Given the description of an element on the screen output the (x, y) to click on. 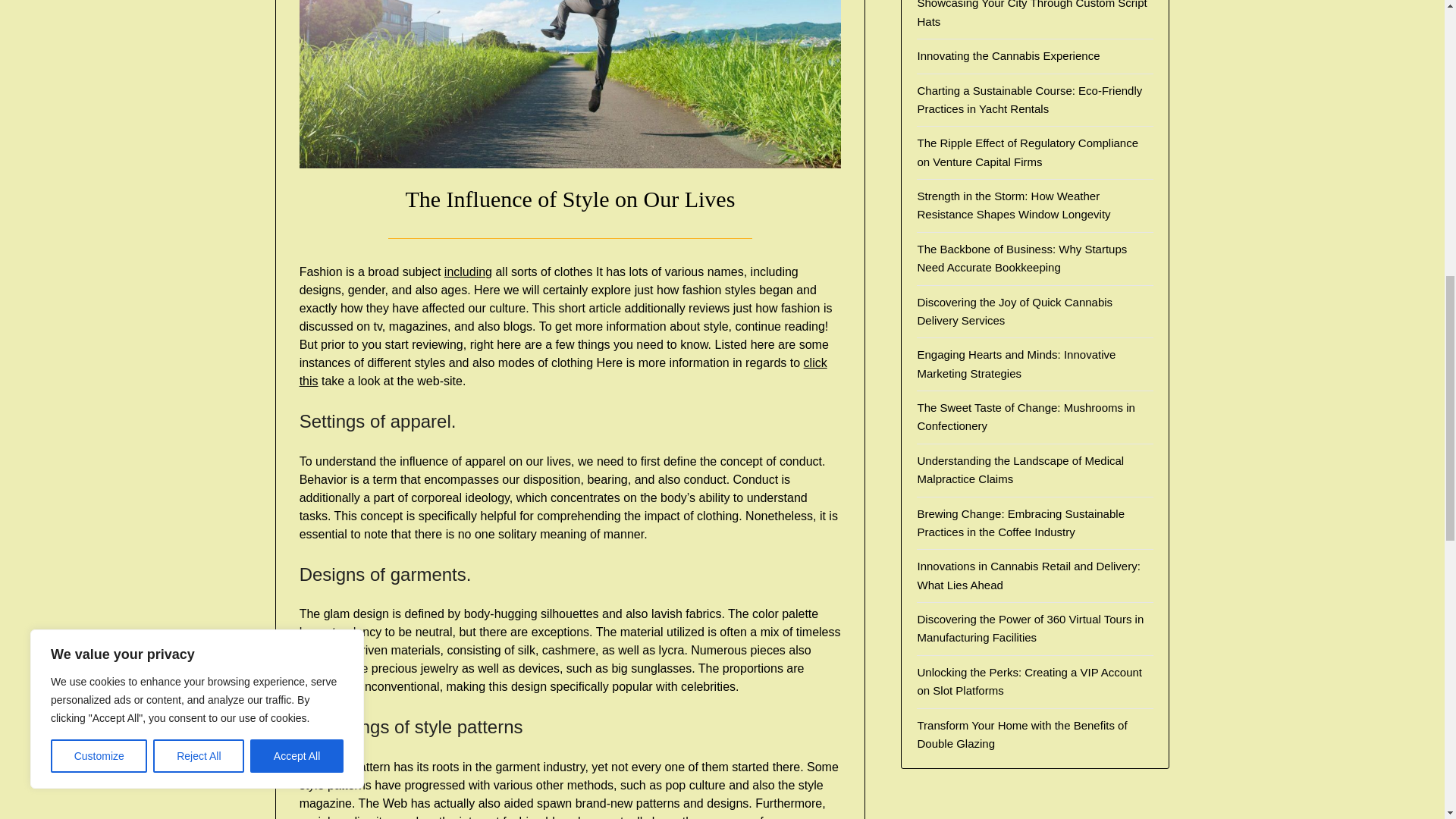
Innovating the Cannabis Experience (1008, 55)
Discovering the Joy of Quick Cannabis Delivery Services (1014, 310)
including (468, 271)
click this (563, 371)
Showcasing Your City Through Custom Script Hats (1032, 13)
